Given the description of an element on the screen output the (x, y) to click on. 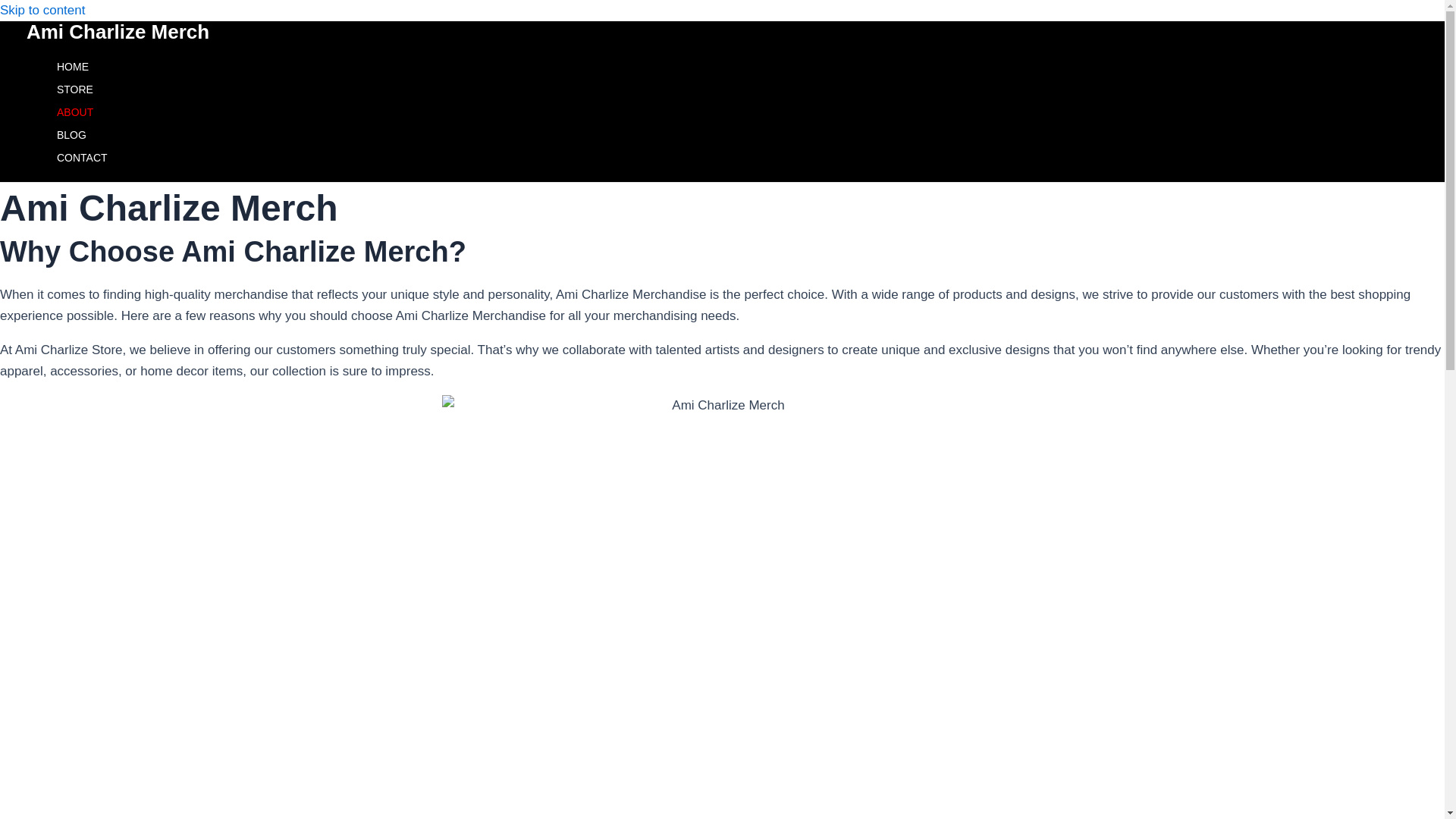
Ami Charlize Merch (117, 31)
Skip to content (42, 10)
STORE (81, 88)
ABOUT (81, 111)
Skip to content (42, 10)
HOME (81, 66)
BLOG (81, 134)
CONTACT (81, 157)
